Given the description of an element on the screen output the (x, y) to click on. 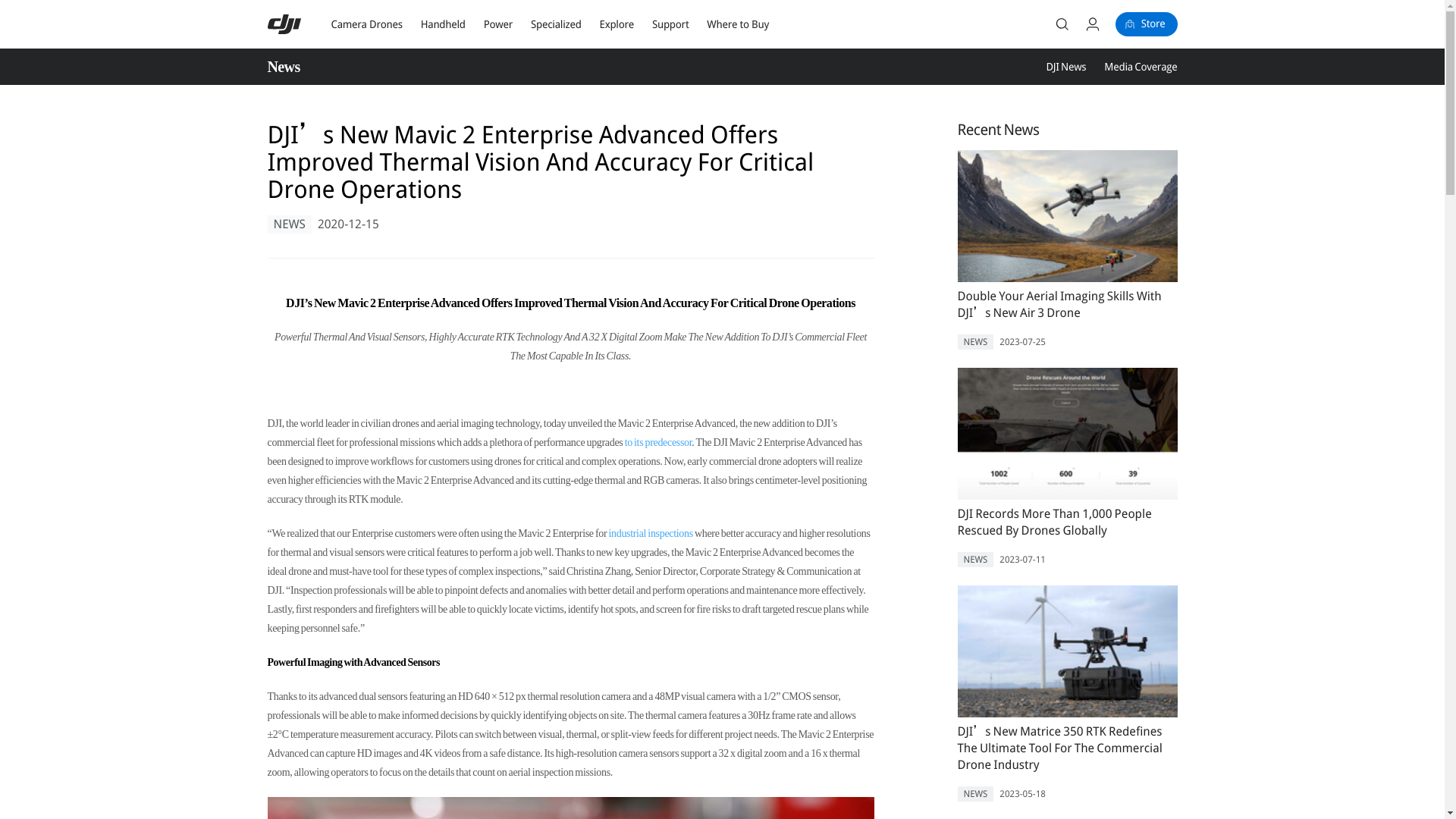
DJI News (1065, 66)
industrial inspections (650, 532)
Media Coverage (1139, 66)
Store (1146, 24)
Handheld (442, 24)
NEWS (288, 224)
Camera Drones (365, 24)
Where to Buy (737, 24)
to its predecessor (658, 441)
News (288, 66)
